Given the description of an element on the screen output the (x, y) to click on. 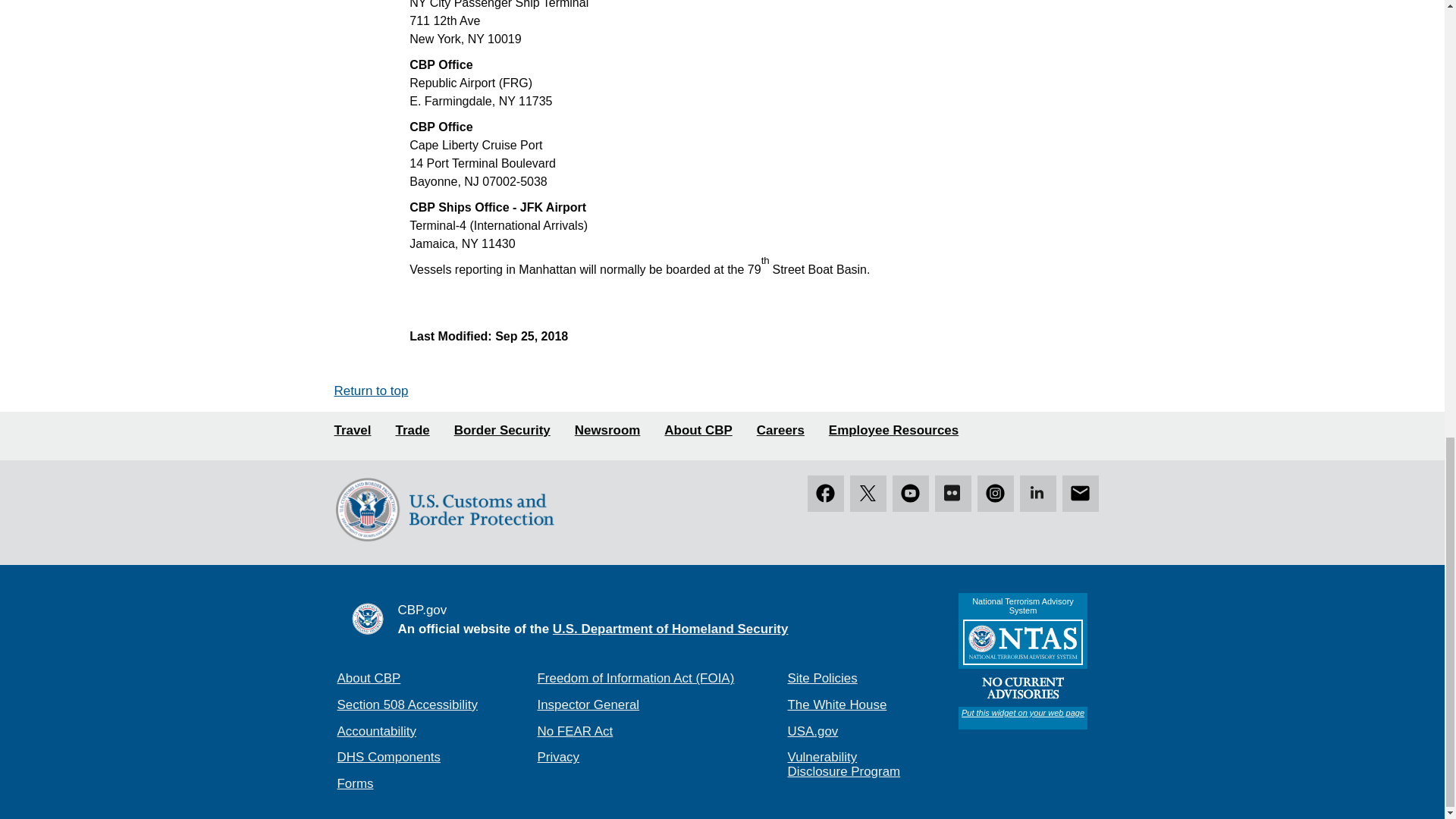
Newsroom (607, 430)
About (697, 430)
Travel (352, 430)
Border Security (502, 430)
Careers (781, 430)
Border Security (502, 430)
Newsroom (607, 430)
Travel (352, 430)
Return to top (370, 390)
National Terrorism Advisory System (1022, 660)
